Given the description of an element on the screen output the (x, y) to click on. 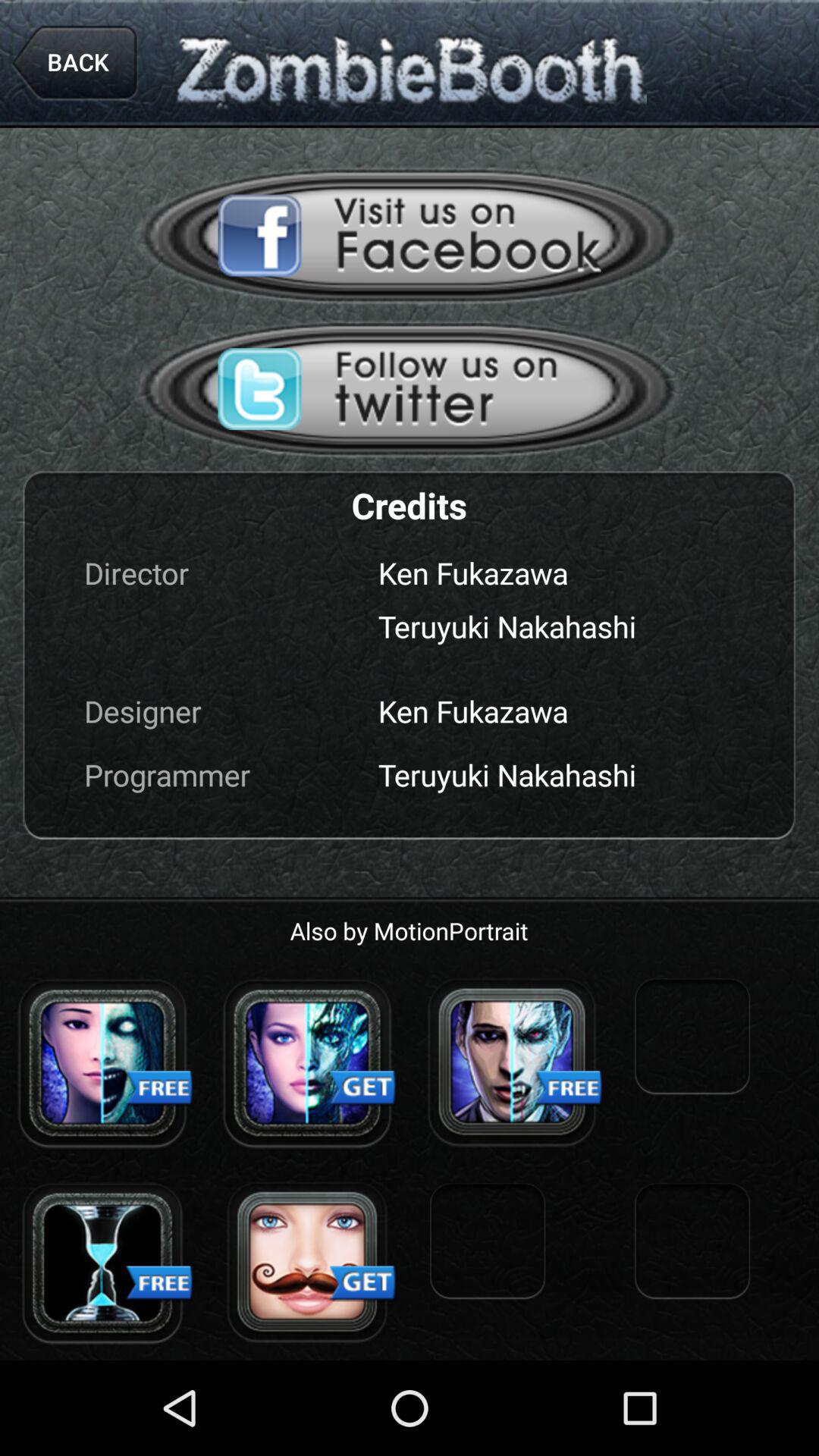
get zombie profile (306, 1262)
